Given the description of an element on the screen output the (x, y) to click on. 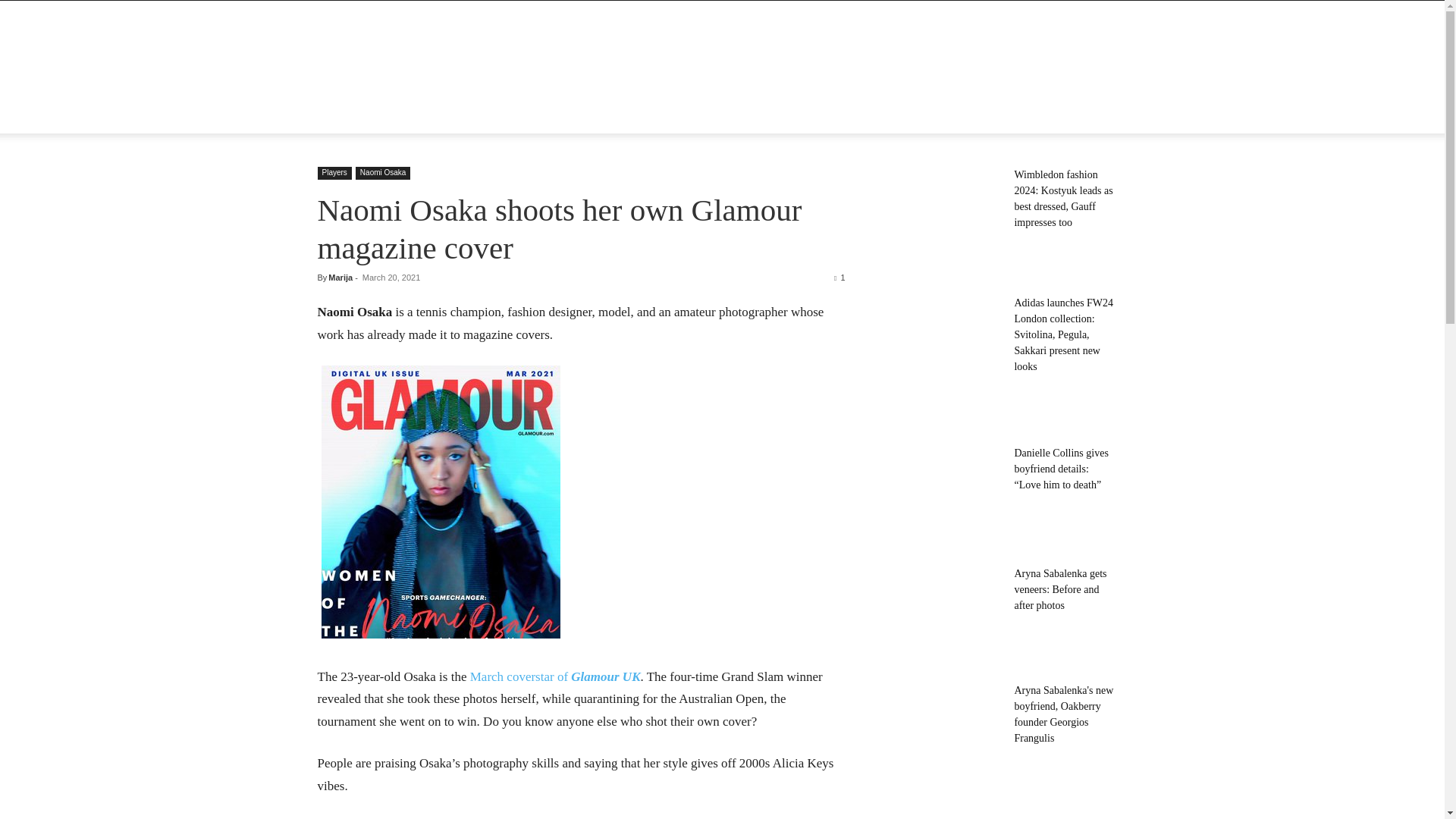
Twitter (1075, 115)
Search (1085, 175)
Contact Us (659, 115)
Subscribe (728, 115)
Facebook (1024, 115)
Linkedin (1050, 115)
About (389, 115)
Home (341, 115)
Featured (445, 115)
